Given the description of an element on the screen output the (x, y) to click on. 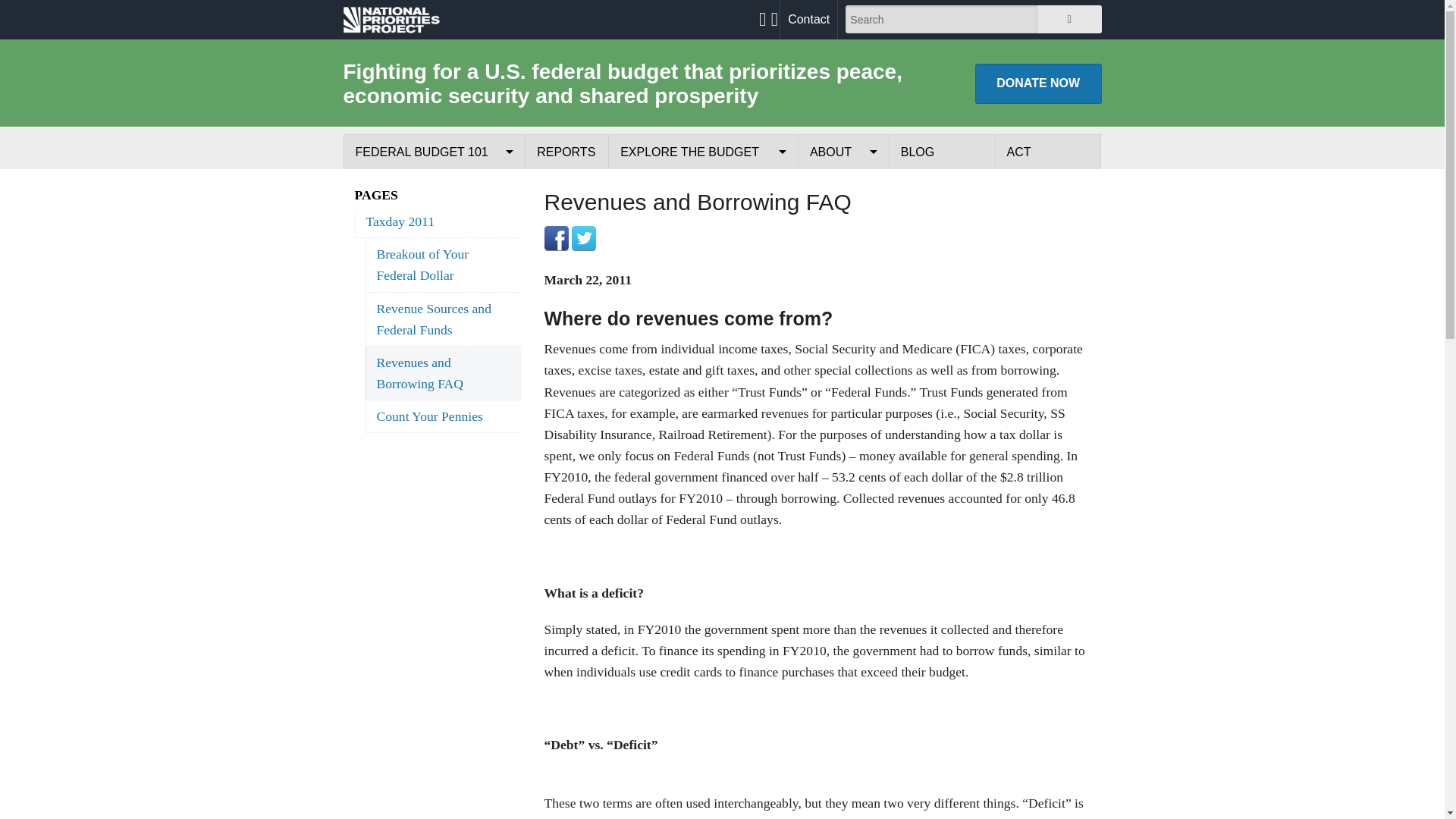
National Priorities Project (390, 19)
EXPLORE THE BUDGET (702, 151)
Employment (843, 291)
Revenues and Borrowing FAQ (443, 373)
Twitter (583, 238)
Where the Money Comes From (433, 221)
Federal Budget Process (433, 186)
Breakout of Your Federal Dollar (443, 264)
Your Tax Receipt (703, 186)
Revenue Sources and Federal Funds (443, 319)
